Given the description of an element on the screen output the (x, y) to click on. 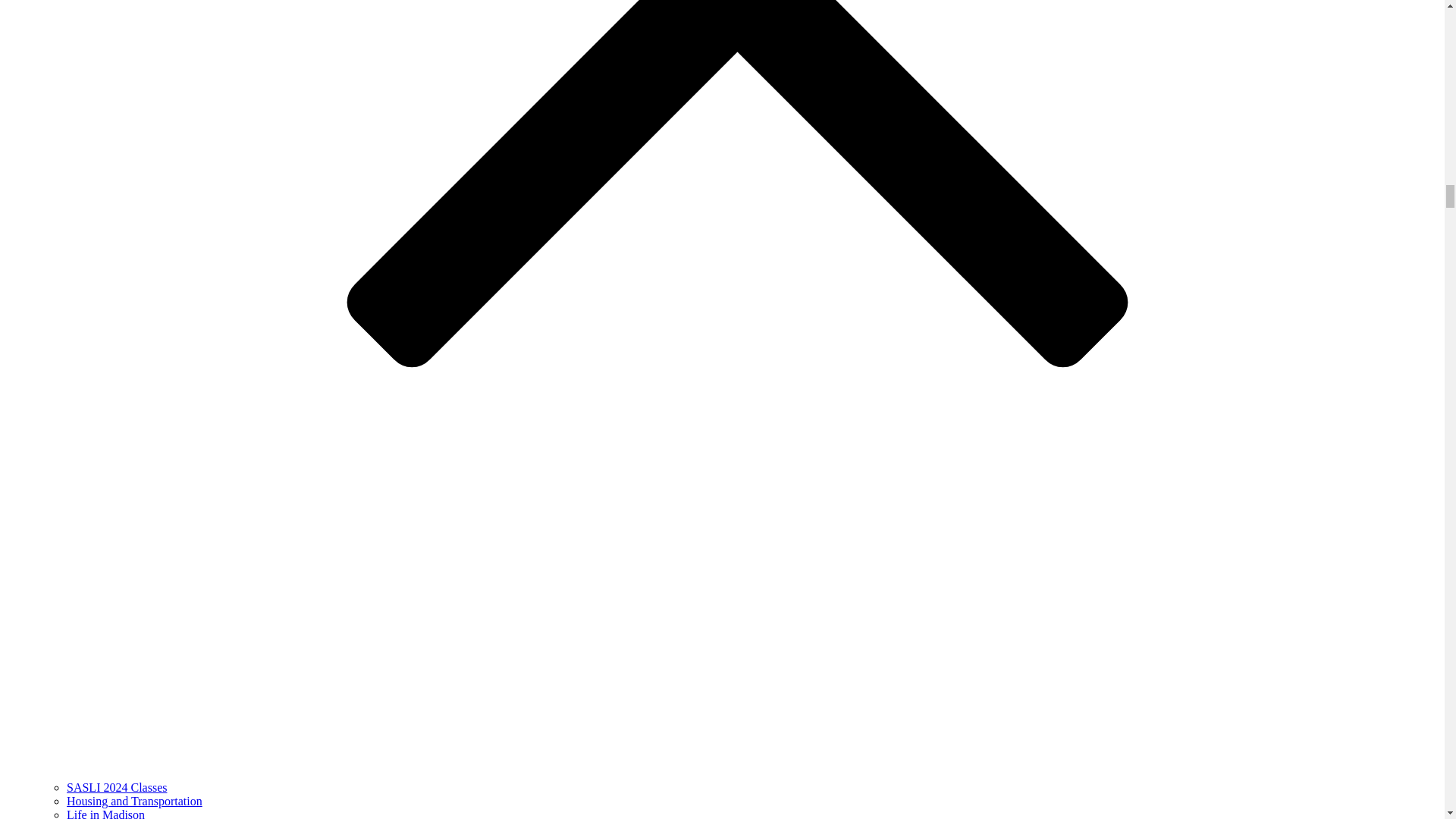
SASLI 2024 Classes (116, 787)
Life in Madison (105, 813)
Housing and Transportation (134, 800)
